Given the description of an element on the screen output the (x, y) to click on. 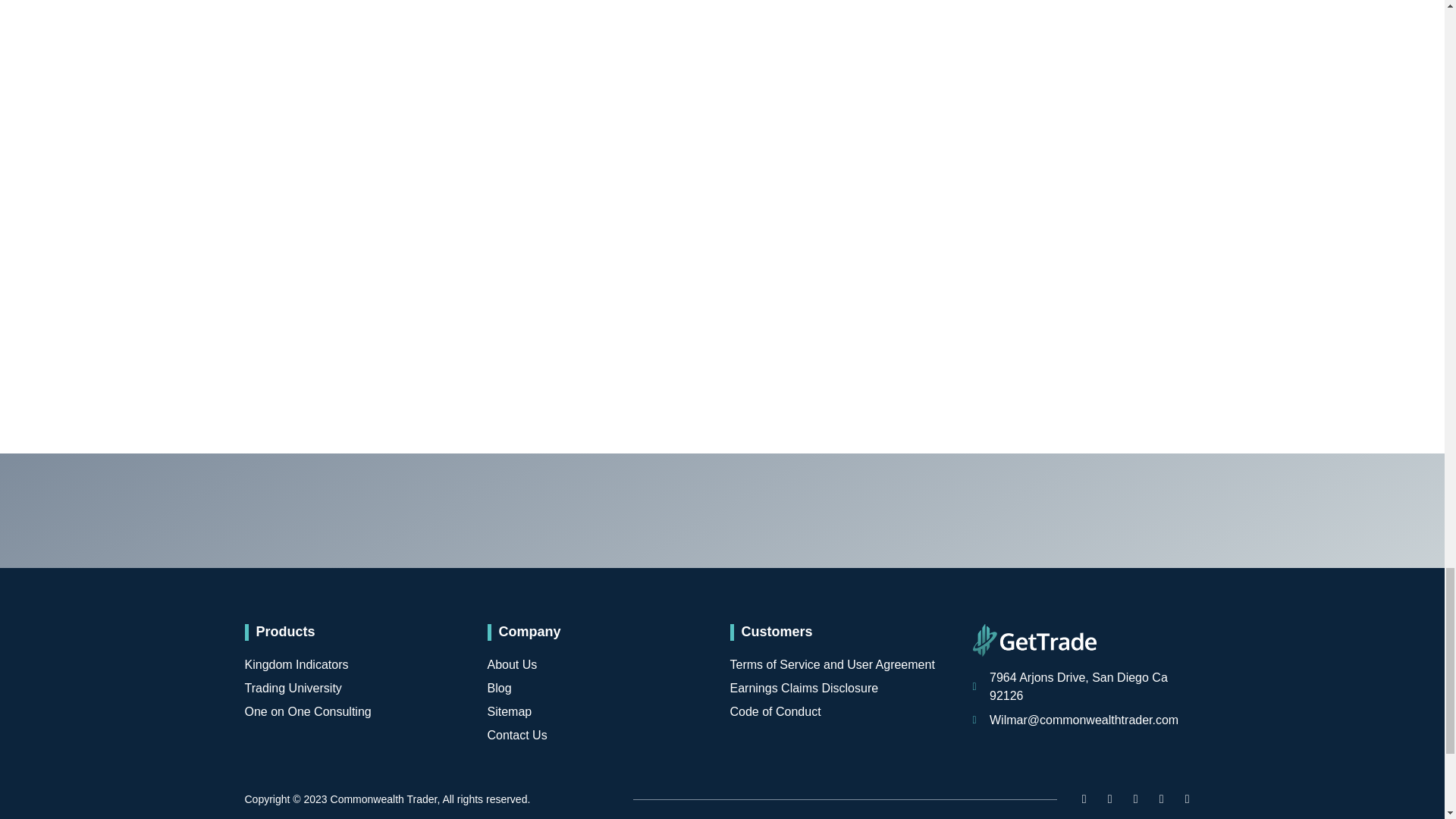
Code of Conduct (842, 711)
Contact Us (600, 735)
Terms of Service and User Agreement (842, 665)
Blog (600, 688)
Sitemap (600, 711)
About Us (600, 665)
Earnings Claims Disclosure (842, 688)
One on One Consulting (357, 711)
Kingdom Indicators (357, 665)
Trading University (357, 688)
